Given the description of an element on the screen output the (x, y) to click on. 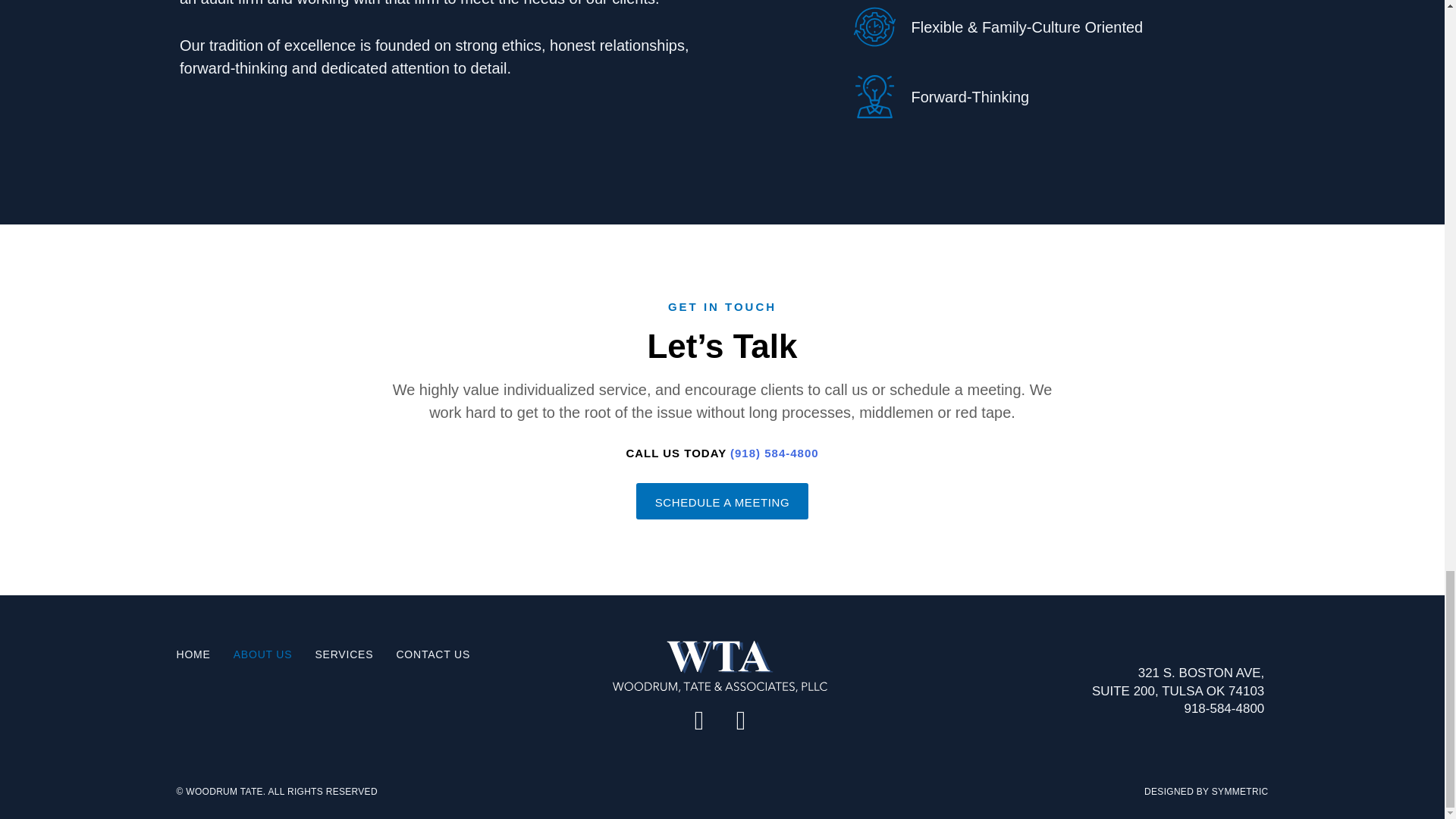
HOME (192, 654)
SCHEDULE A MEETING (722, 501)
SERVICES (343, 654)
ABOUT US (262, 654)
DESIGNED BY SYMMETRIC (1206, 791)
CONTACT US (433, 654)
